Given the description of an element on the screen output the (x, y) to click on. 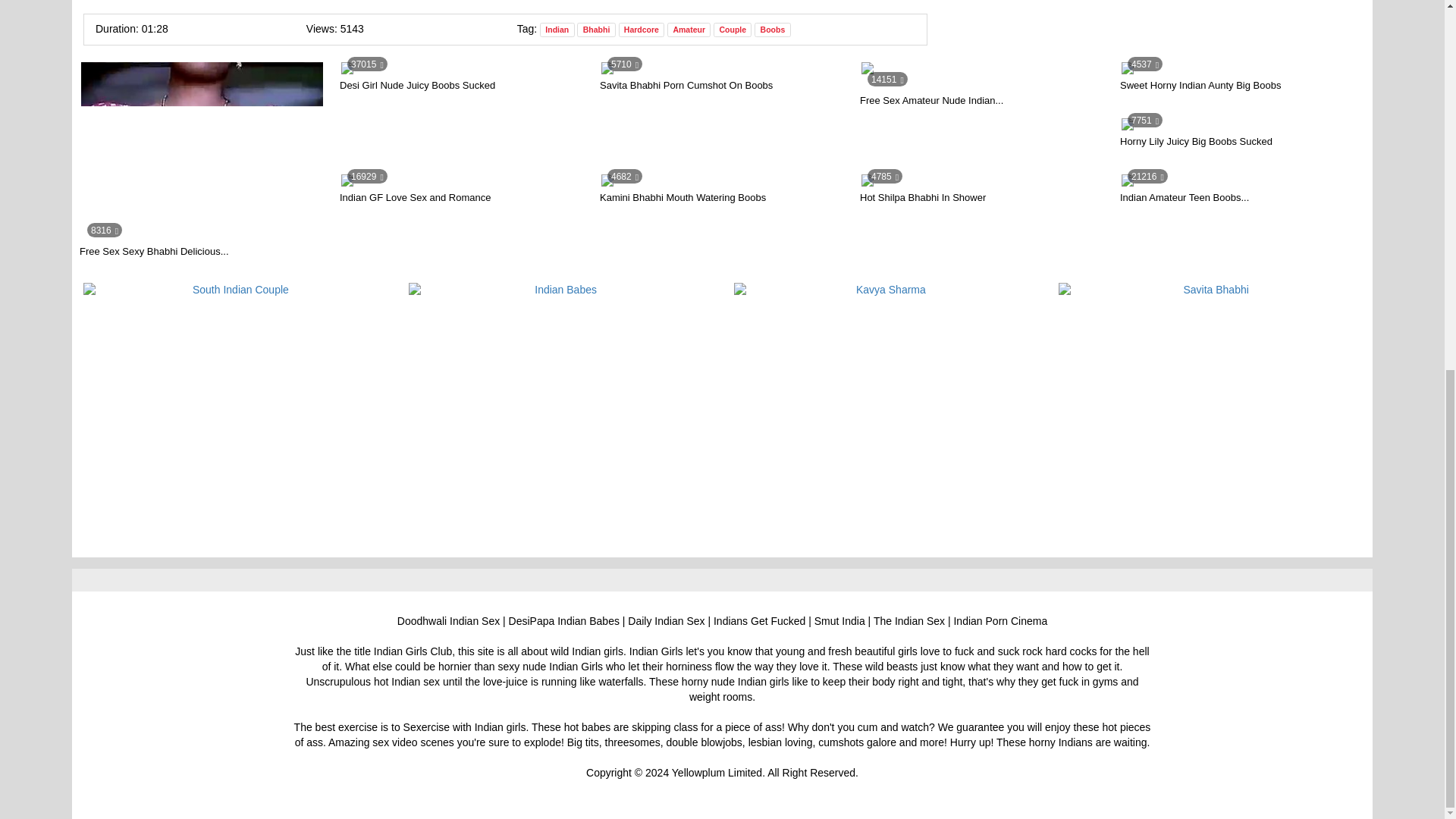
Indian (556, 29)
Amateur (462, 88)
Boobs (982, 95)
Doodhwali Indian Sex (1242, 144)
Hardcore (688, 29)
